Given the description of an element on the screen output the (x, y) to click on. 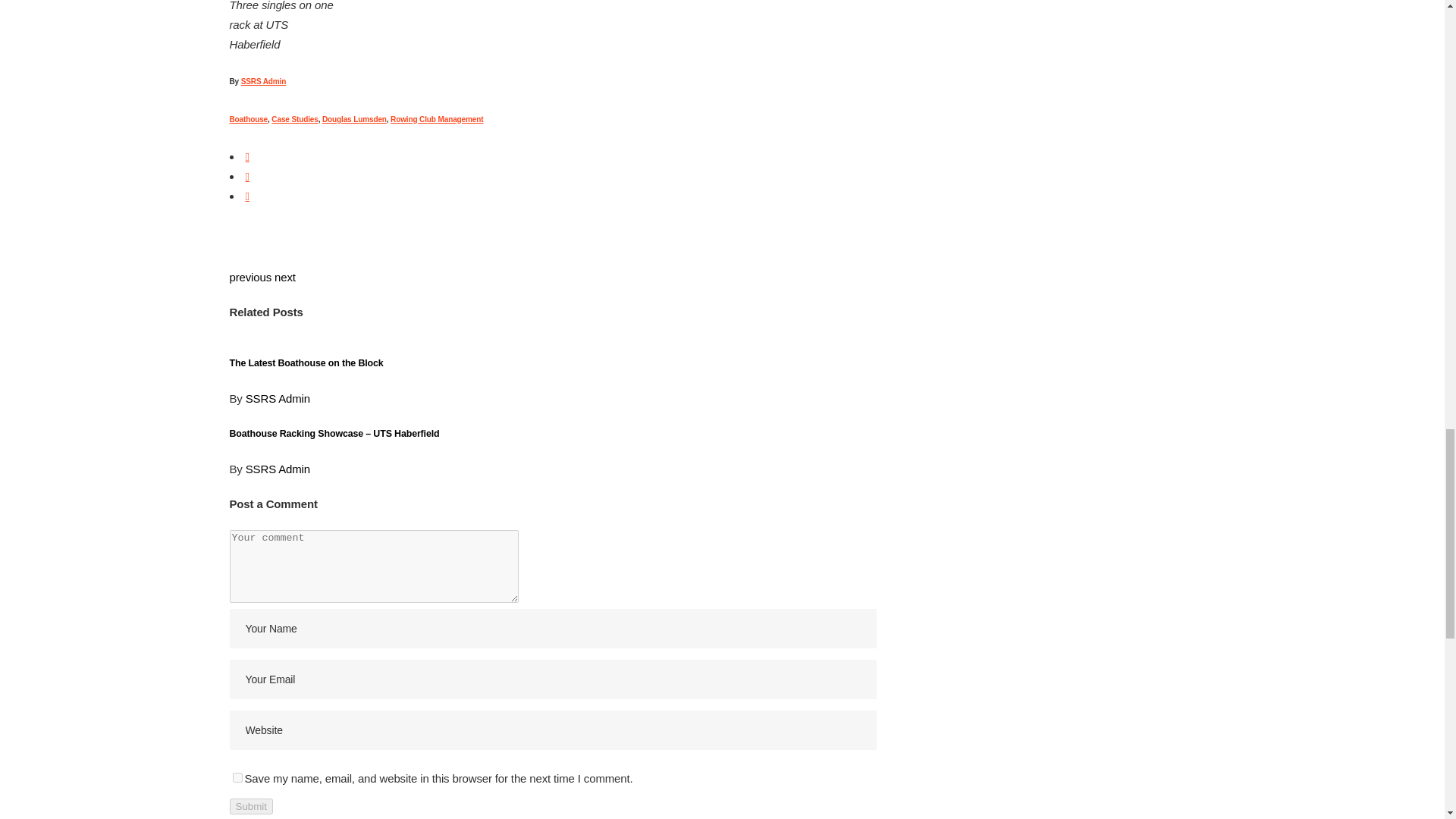
Submit (250, 806)
yes (236, 777)
The Latest Boathouse on the Block (305, 362)
